Given the description of an element on the screen output the (x, y) to click on. 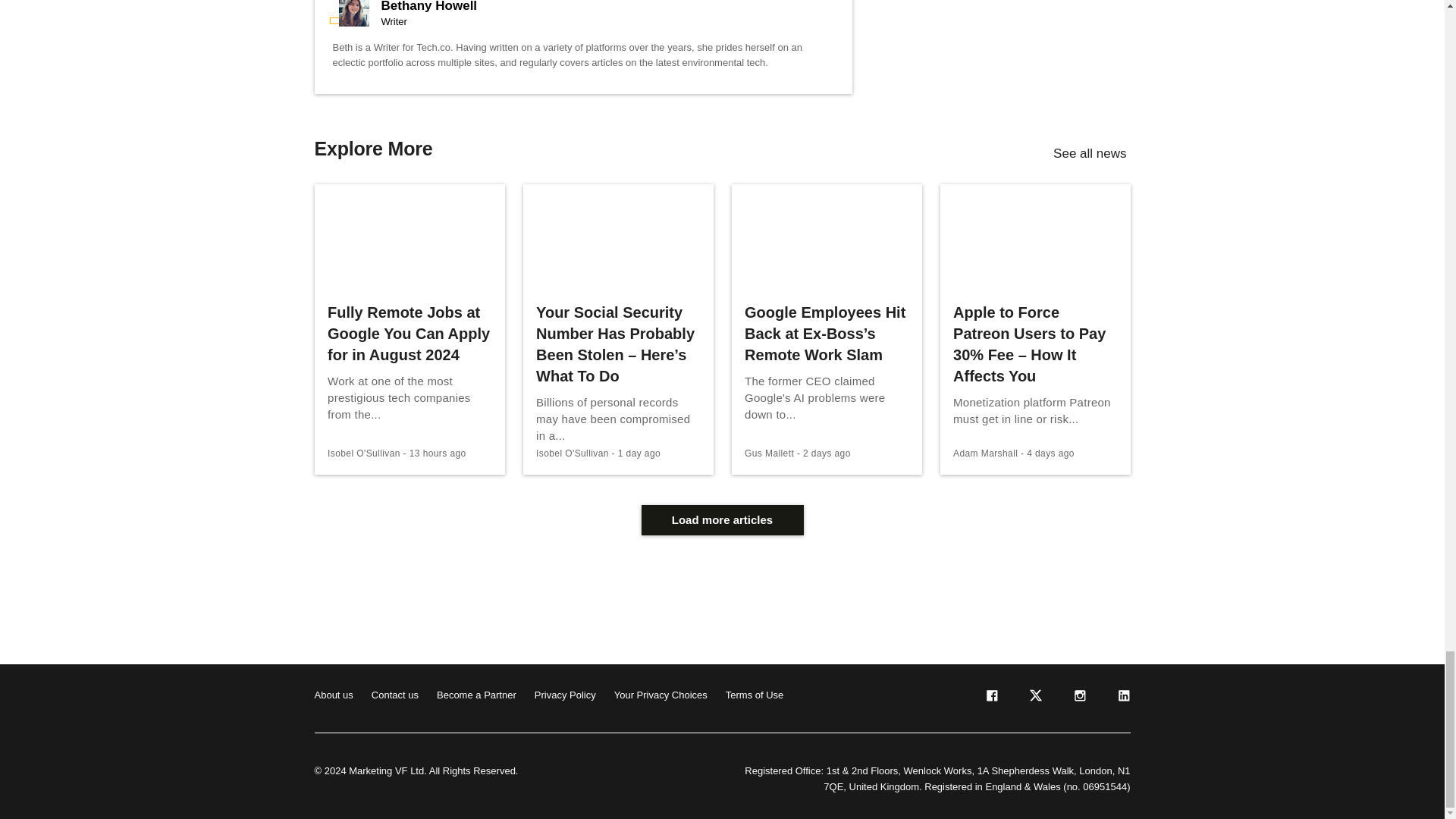
linkedin (1122, 698)
facebook (990, 698)
instagram (1078, 698)
twitter-x (1034, 698)
